Given the description of an element on the screen output the (x, y) to click on. 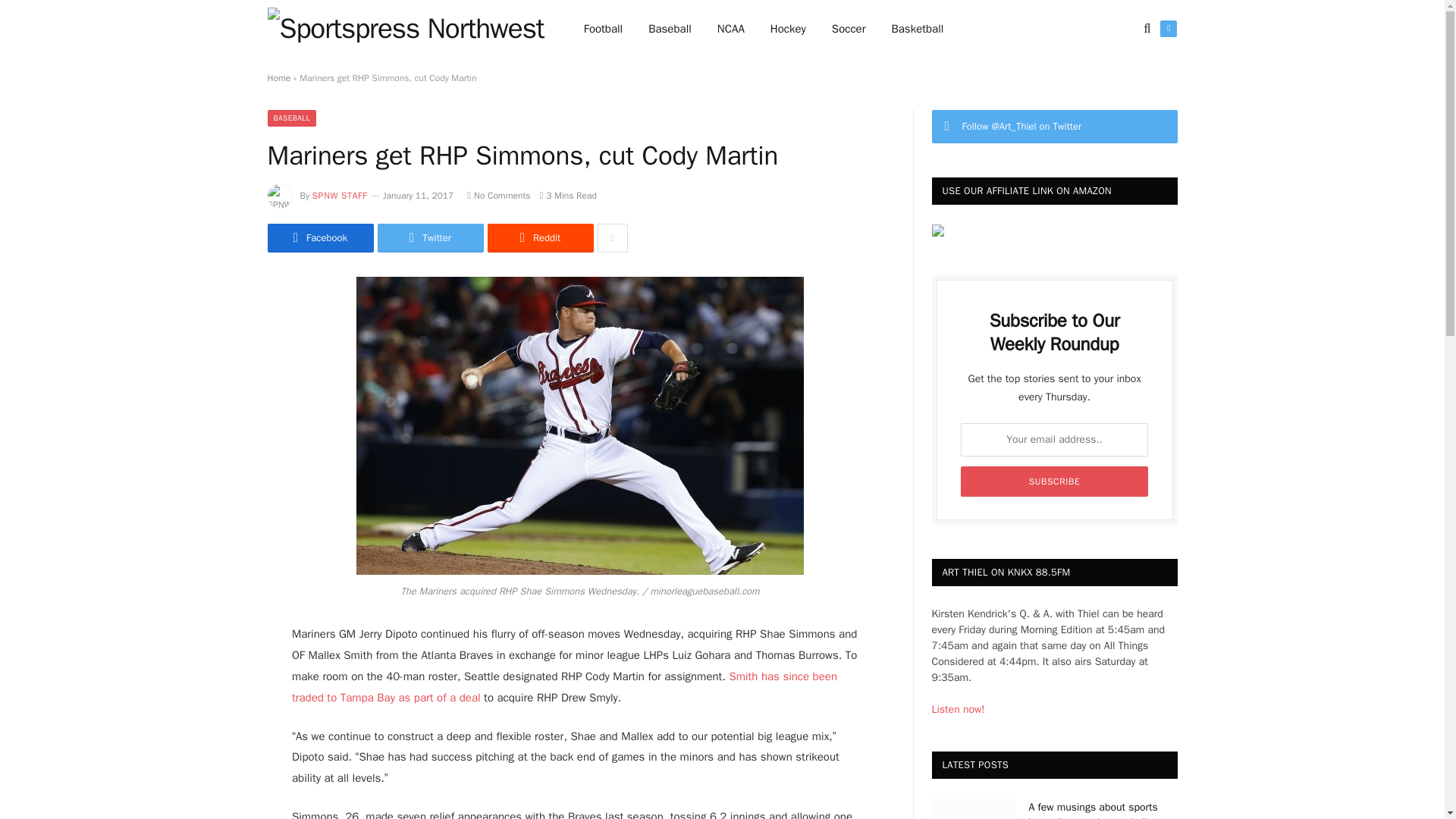
Smith has since been traded to Tampa Bay as part of a deal (564, 686)
Home (277, 78)
No Comments (498, 195)
BASEBALL (290, 117)
Share on Twitter (319, 237)
NCAA (730, 28)
Sportspress Northwest (404, 28)
Twitter (1168, 28)
Basketball (916, 28)
Share on Reddit (539, 237)
